Given the description of an element on the screen output the (x, y) to click on. 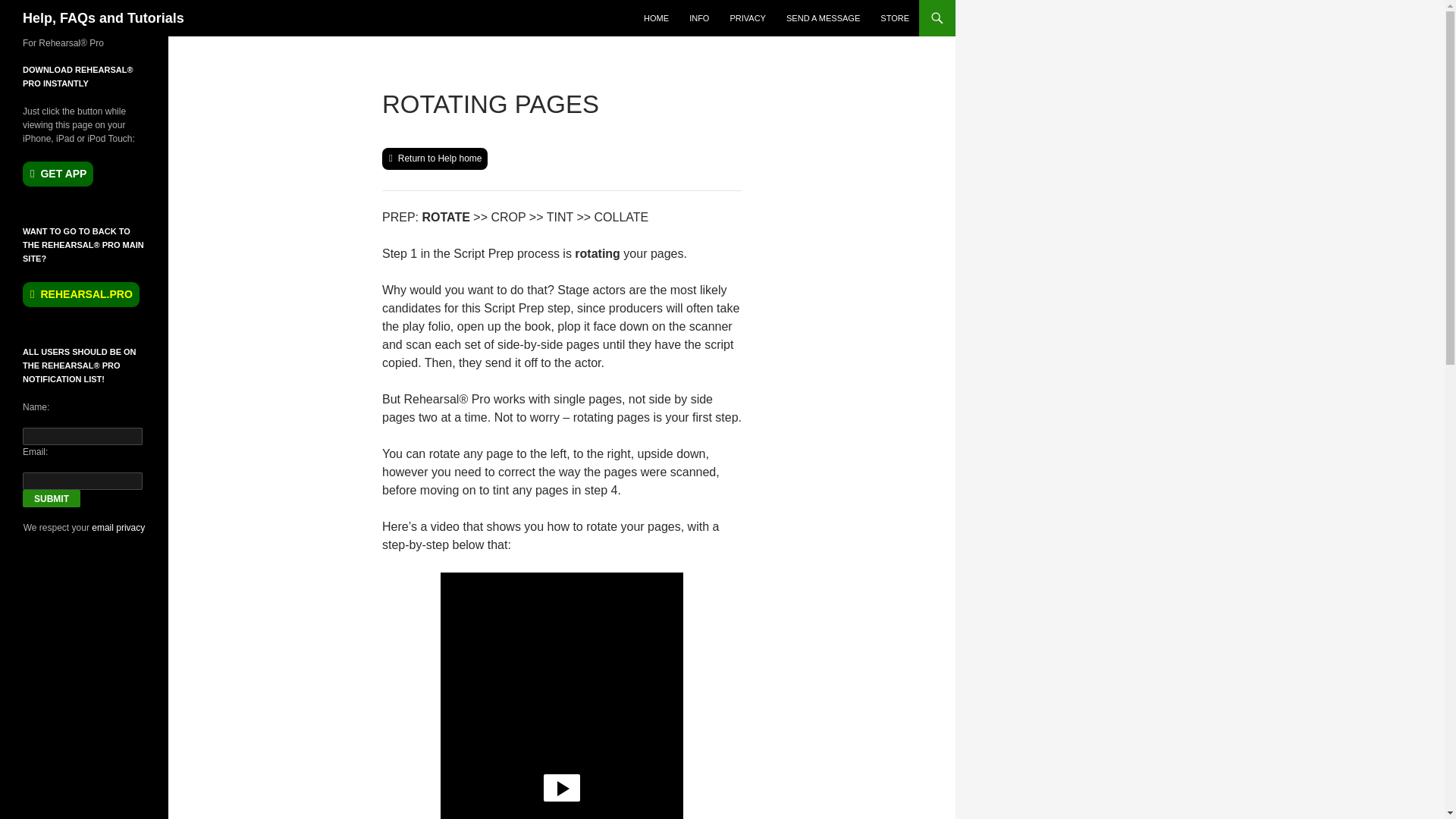
REHEARSAL.PRO (81, 294)
INFO (698, 18)
Submit (51, 497)
HOME (656, 18)
STORE (894, 18)
SEND A MESSAGE (823, 18)
Help, FAQs and Tutorials (103, 18)
PRIVACY (747, 18)
GET APP (58, 173)
Privacy Policy (117, 527)
email privacy (117, 527)
Submit (51, 497)
Return to Help home (434, 158)
